Given the description of an element on the screen output the (x, y) to click on. 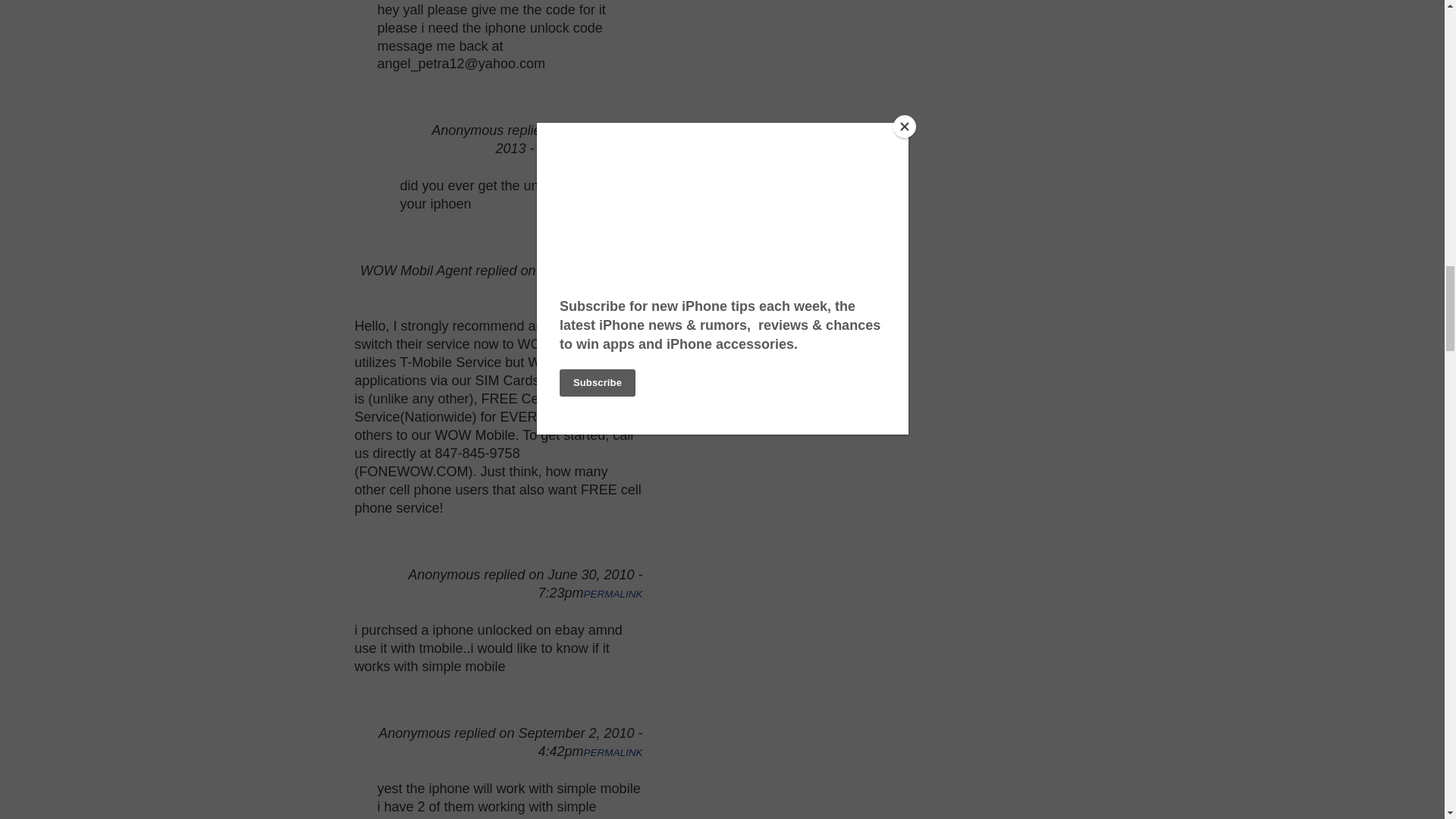
PERMALINK (612, 593)
PERMALINK (612, 289)
PERMALINK (612, 149)
PERMALINK (612, 752)
